Given the description of an element on the screen output the (x, y) to click on. 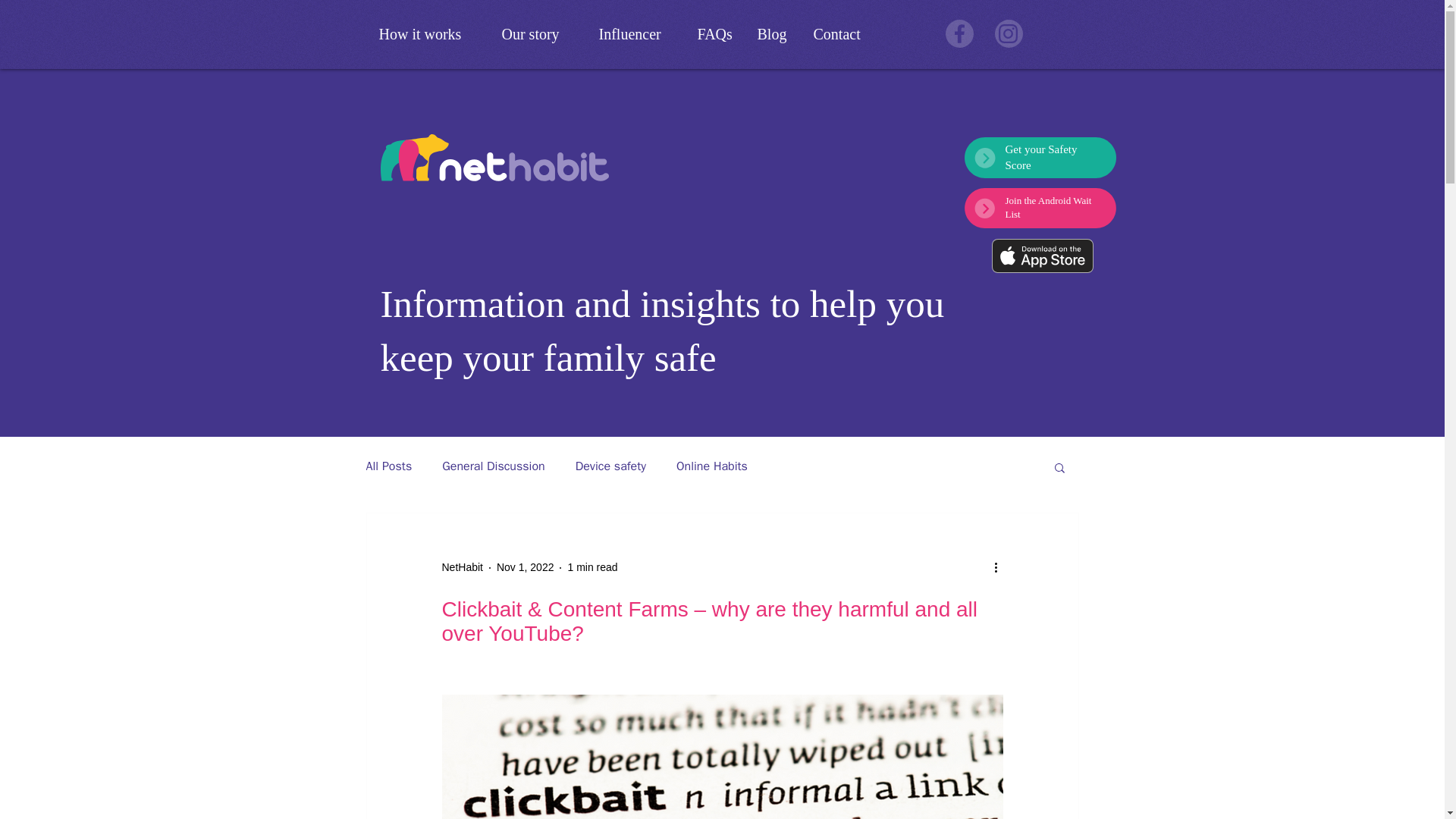
NetHabit (461, 567)
All Posts (388, 466)
Influencer (635, 33)
Contact (844, 33)
Join the Android Wait List (1049, 207)
FAQs (715, 33)
Online Habits (712, 466)
Device safety (610, 466)
1 min read (592, 567)
Get your Safety Score (1041, 157)
Blog (773, 33)
Nov 1, 2022 (525, 567)
General Discussion (493, 466)
Our story (537, 33)
How it works (427, 33)
